Given the description of an element on the screen output the (x, y) to click on. 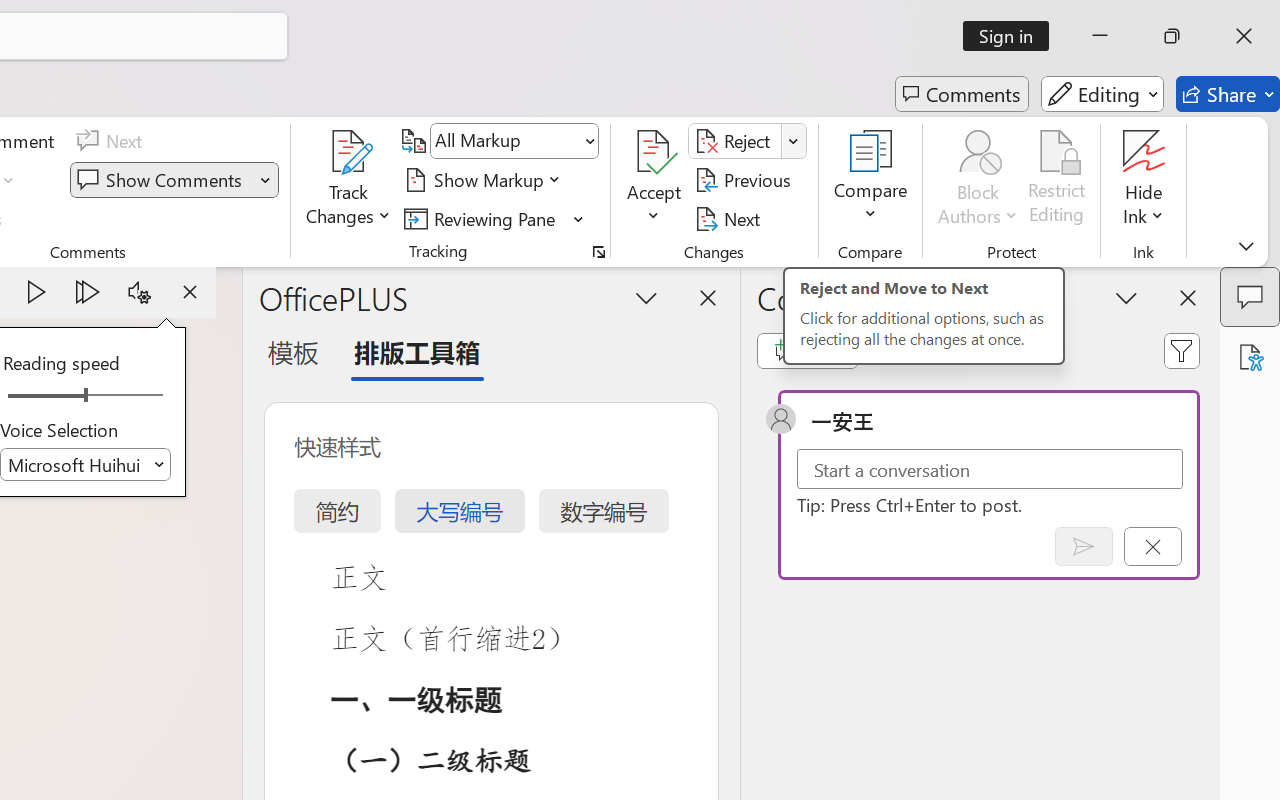
Sign in (1012, 35)
Accept and Move to Next (653, 151)
Next (730, 218)
Restrict Editing (1057, 179)
New comment (806, 350)
Show Markup (485, 179)
Voice Selection (85, 464)
Reviewing Pane (483, 218)
Change Tracking Options... (598, 252)
Show Comments (162, 179)
